Given the description of an element on the screen output the (x, y) to click on. 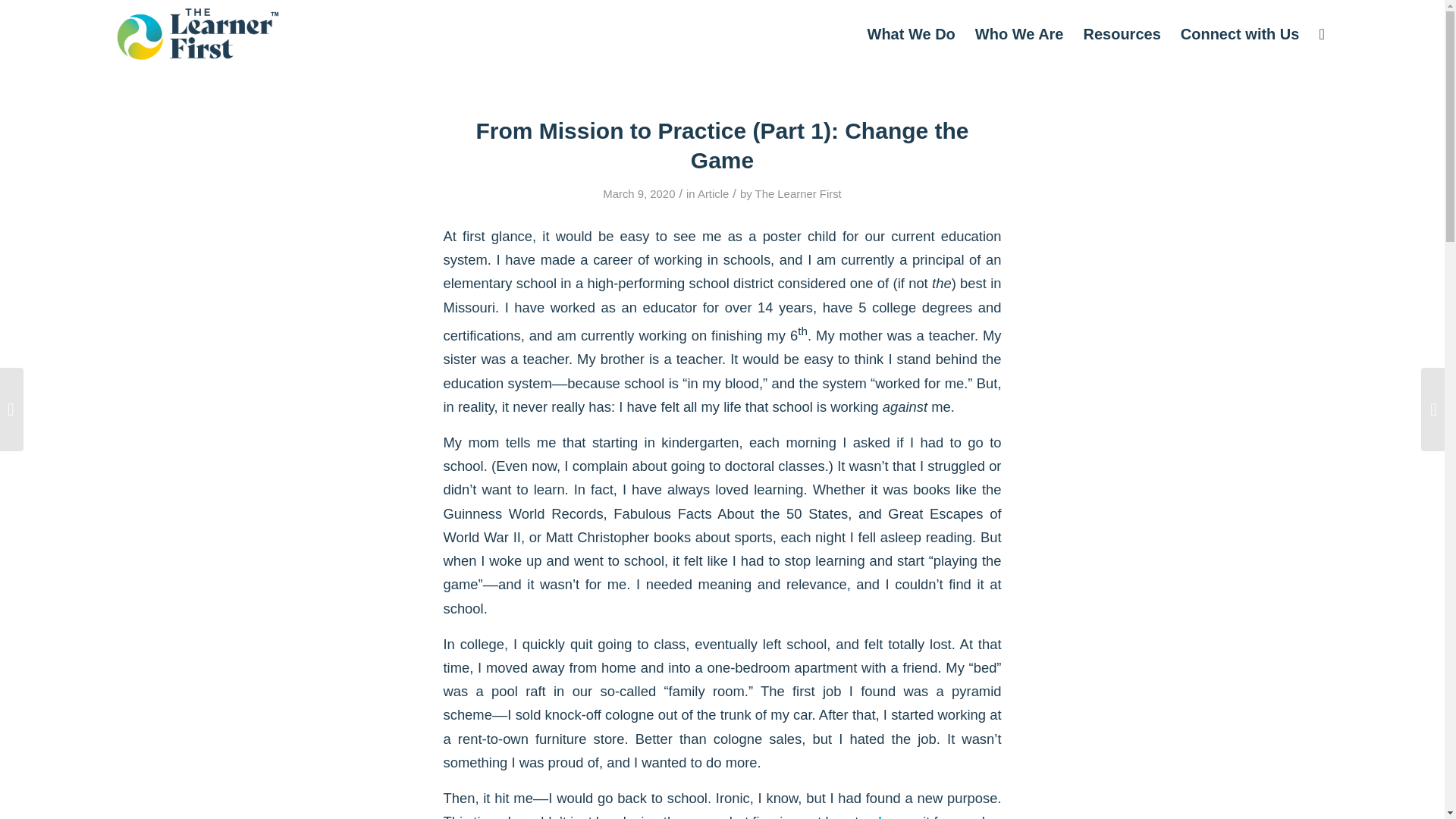
Who We Are (1019, 33)
Connect with Us (1239, 33)
Article (713, 193)
Posts by The Learner First (798, 193)
The Learner First (798, 193)
Learner-First-logo (197, 33)
Resources (1121, 33)
What We Do (911, 33)
